Given the description of an element on the screen output the (x, y) to click on. 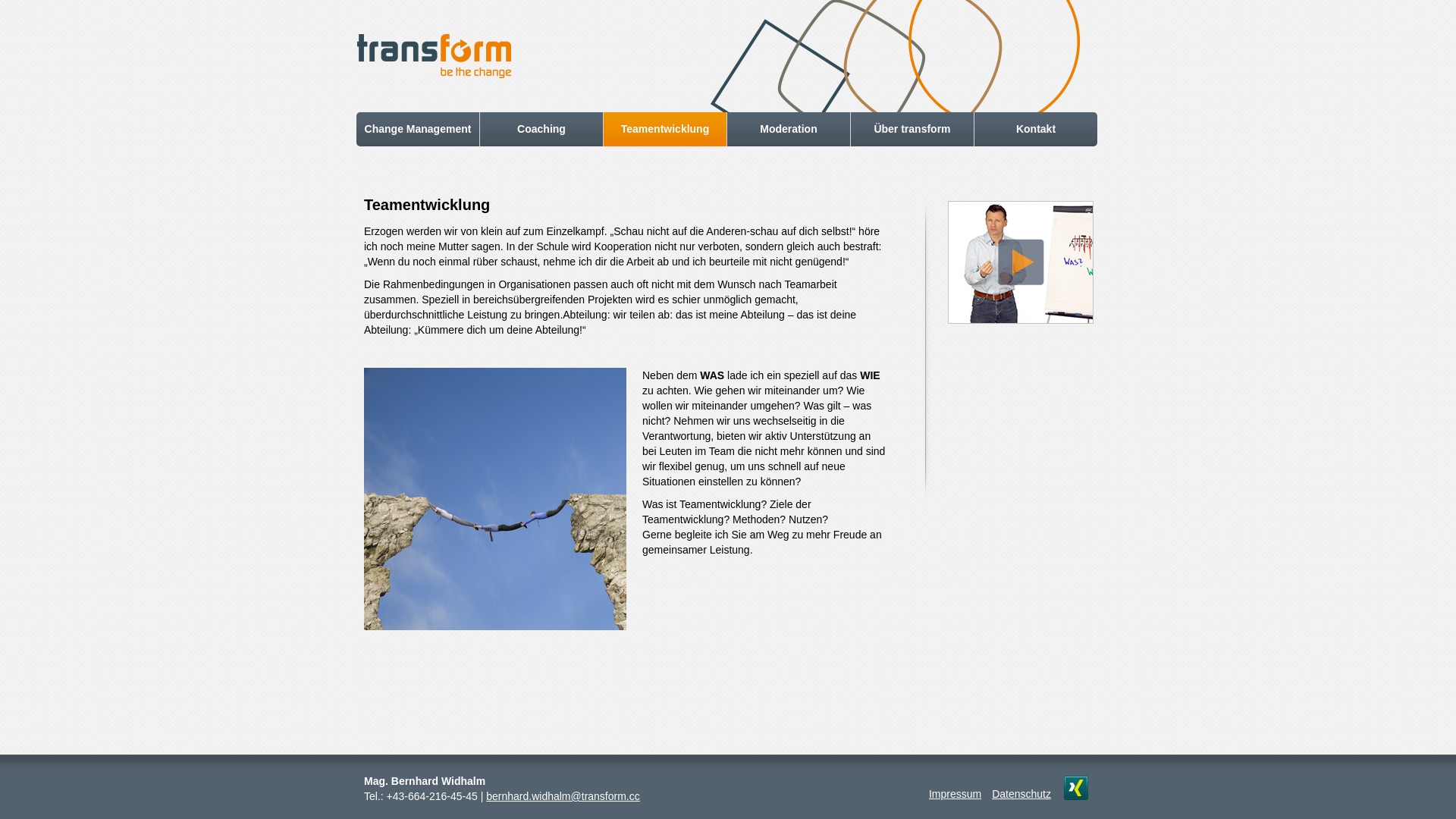
Kontakt Element type: text (1035, 129)
bernhard.widhalm@transform.cc Element type: text (563, 796)
Teamentwicklung Element type: text (664, 129)
   Xing    Element type: text (1075, 787)
Impressum Element type: text (954, 793)
Datenschutz Element type: text (1021, 793)
Coaching Element type: text (541, 129)
Video Teamentwicklung Element type: hover (1020, 261)
Moderation Element type: text (788, 129)
Change Management Element type: text (417, 129)
